Given the description of an element on the screen output the (x, y) to click on. 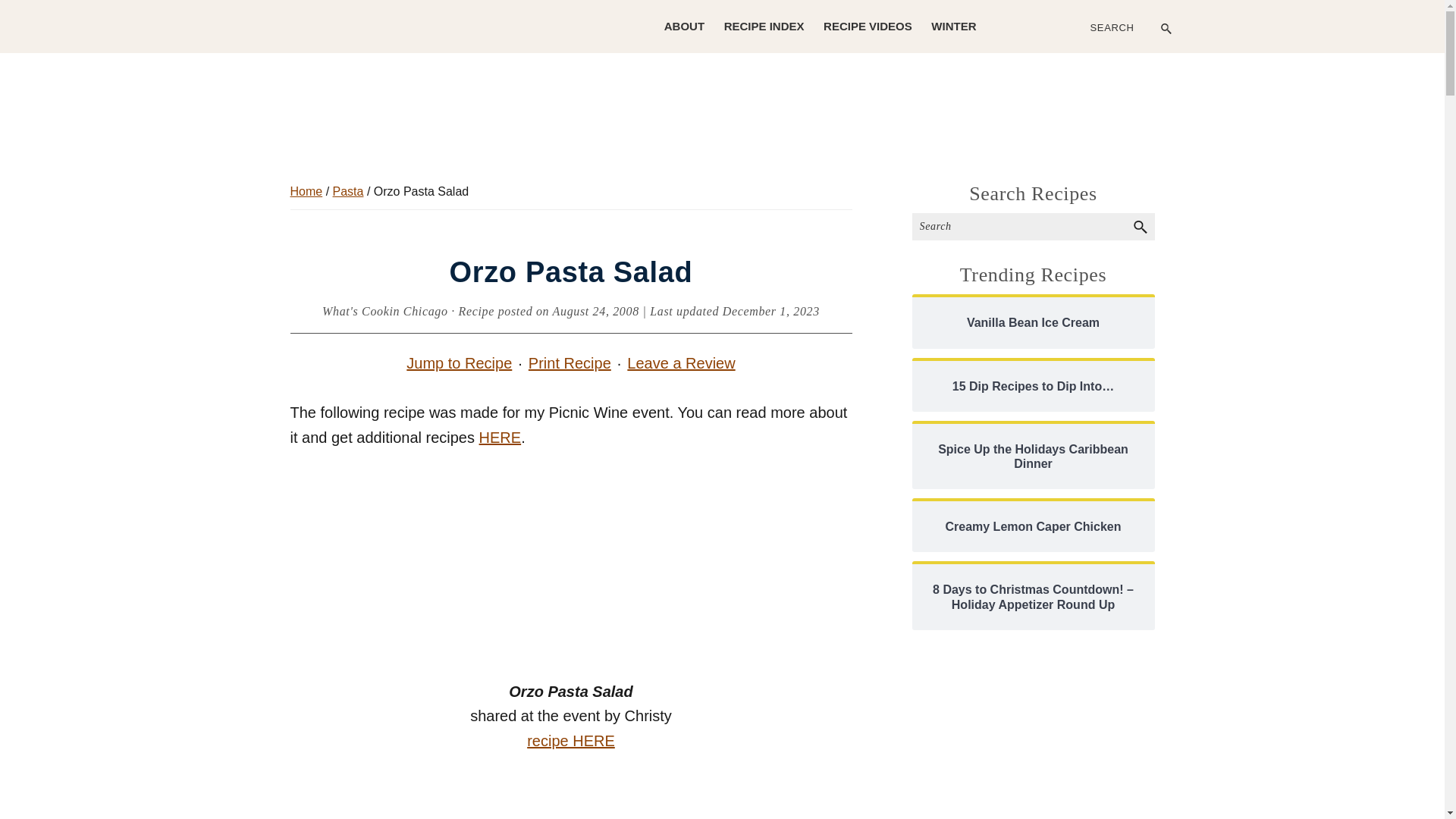
HERE (500, 437)
RECIPE INDEX (764, 25)
ABOUT (683, 25)
Pasta (348, 191)
RECIPE VIDEOS (867, 25)
Jump to Recipe (459, 362)
WINTER (953, 25)
Print Recipe (569, 362)
Home (305, 191)
